Given the description of an element on the screen output the (x, y) to click on. 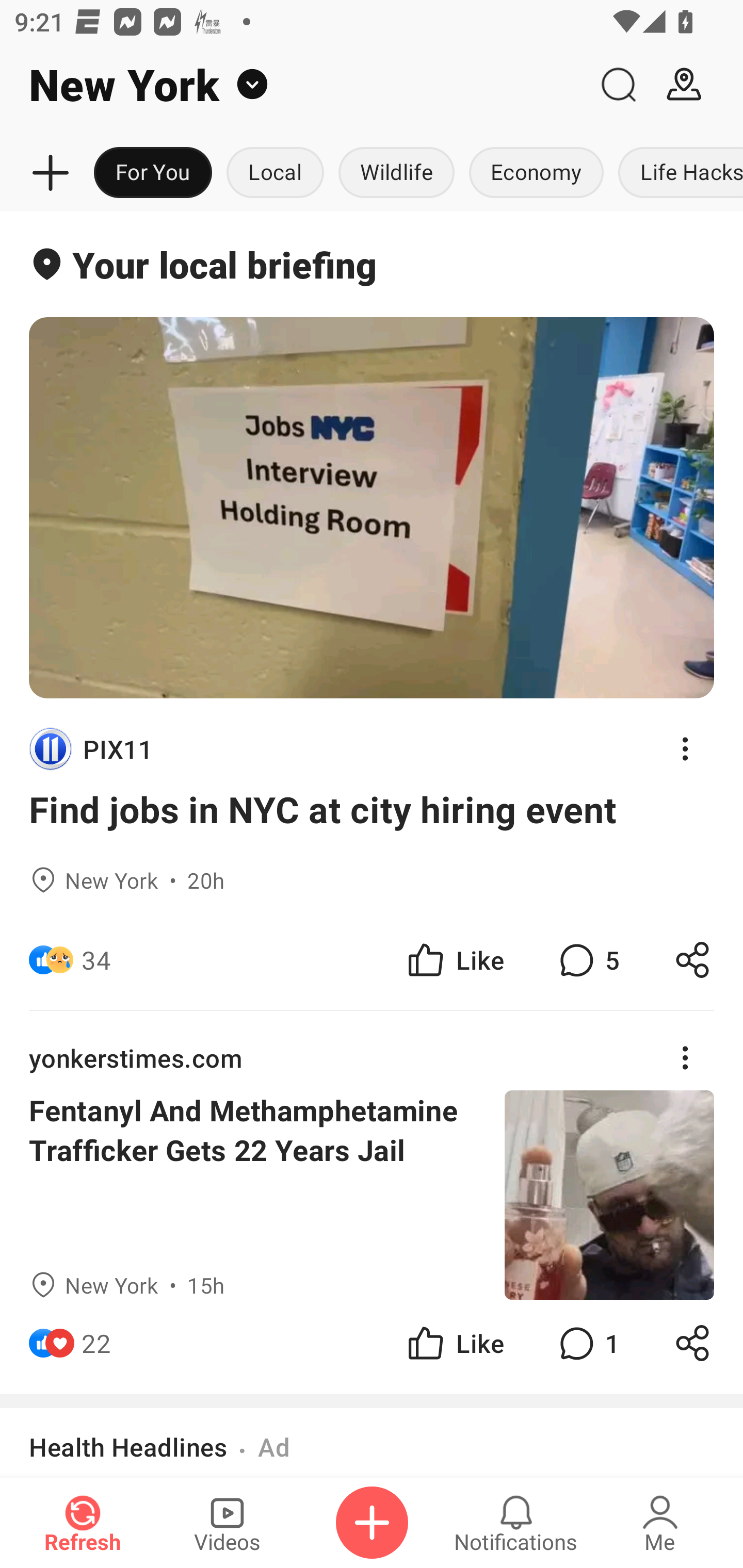
New York (292, 84)
For You (152, 172)
Local (275, 172)
Wildlife (396, 172)
Economy (536, 172)
Life Hacks (676, 172)
34 (95, 960)
Like (454, 960)
5 (587, 960)
22 (95, 1342)
Like (454, 1342)
1 (587, 1342)
Health Headlines (127, 1447)
Videos (227, 1522)
Notifications (516, 1522)
Me (659, 1522)
